Given the description of an element on the screen output the (x, y) to click on. 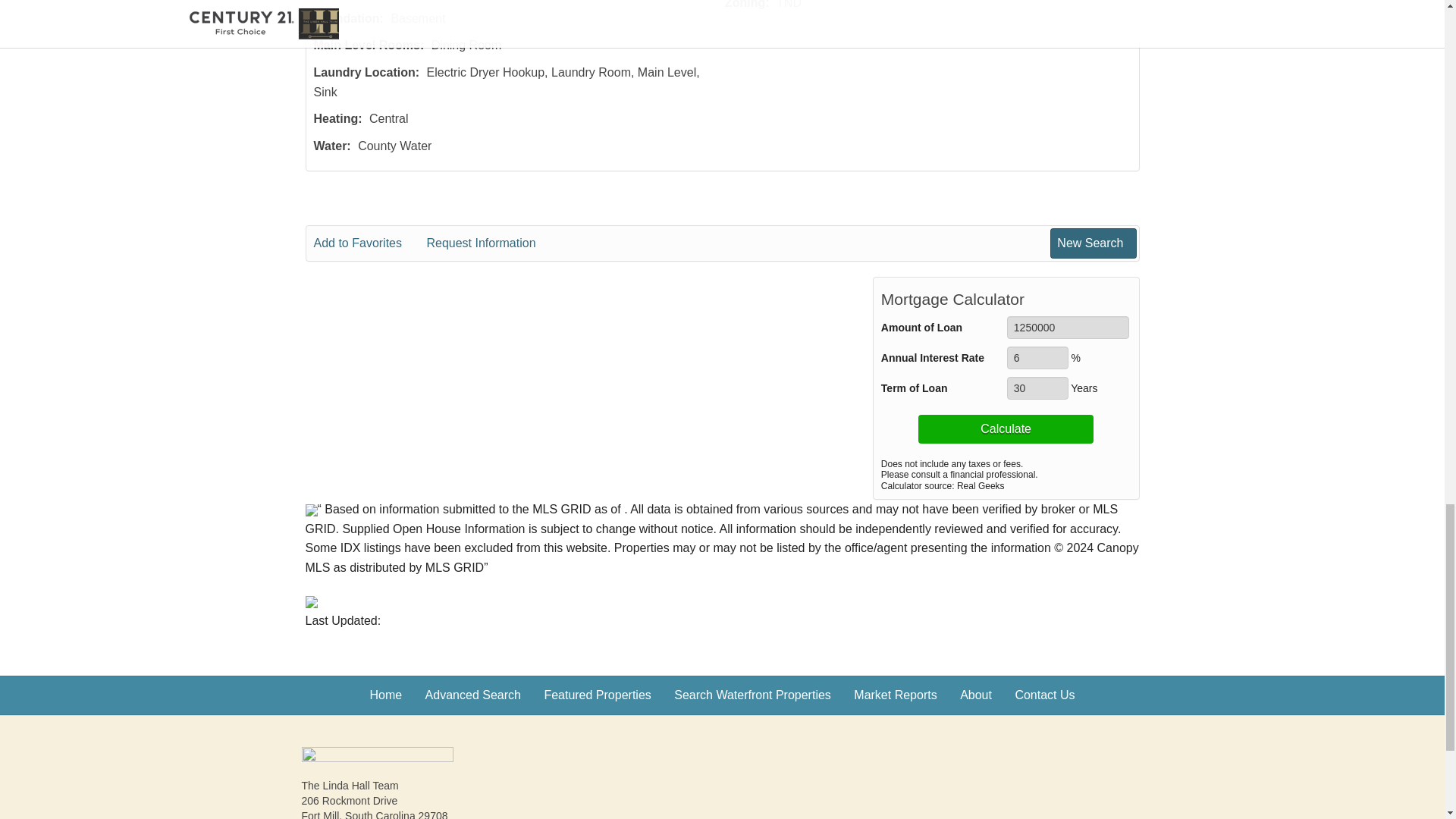
1250000 (1068, 327)
6 (1037, 357)
30 (1037, 387)
